Given the description of an element on the screen output the (x, y) to click on. 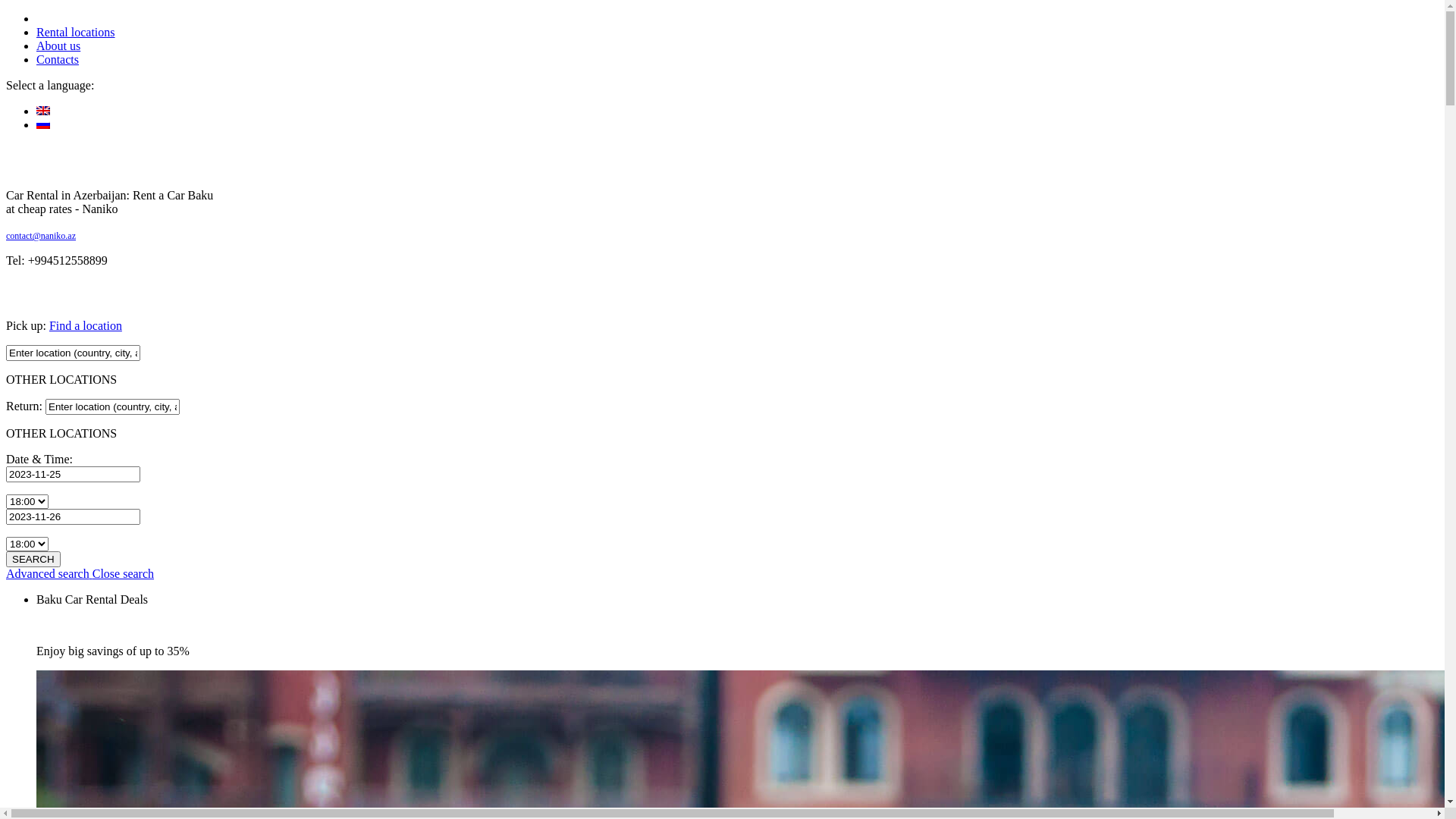
English (en) Element type: hover (43, 110)
Contacts Element type: text (57, 59)
SEARCH Element type: text (33, 559)
Rental locations Element type: text (75, 31)
Find a location Element type: text (85, 325)
contact@naniko.az Element type: text (40, 235)
About us Element type: text (58, 45)
